Given the description of an element on the screen output the (x, y) to click on. 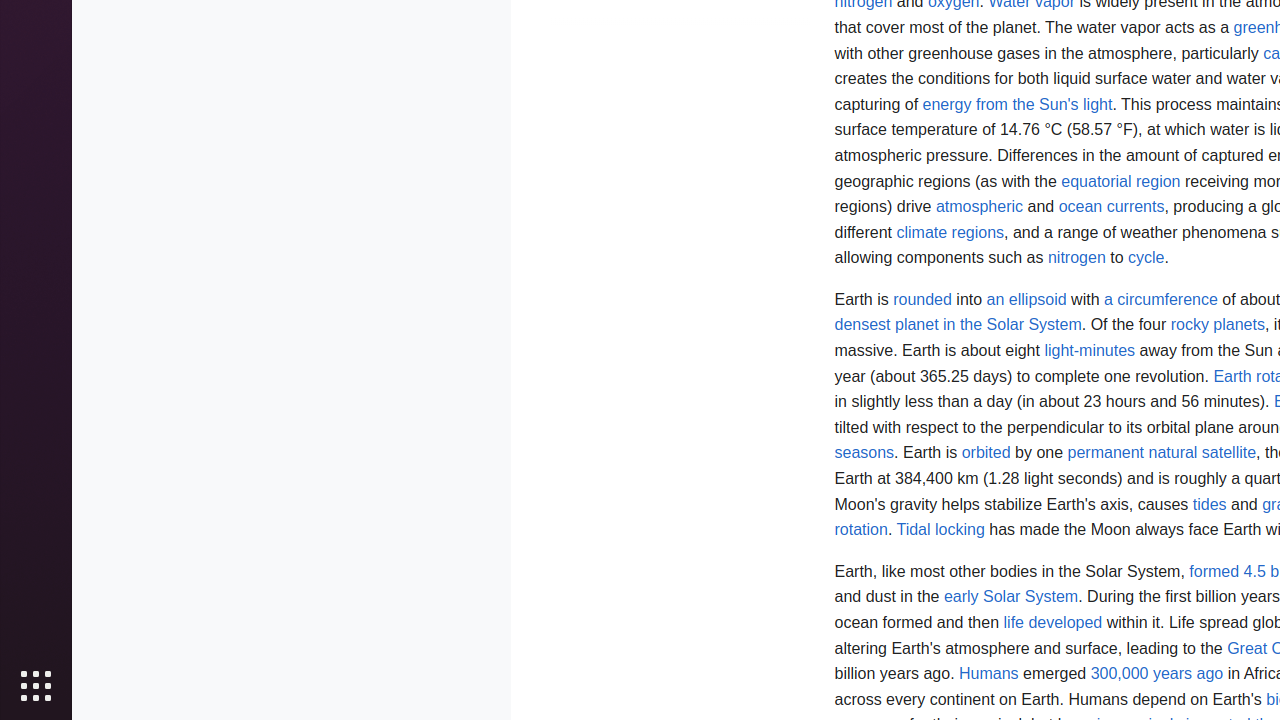
cycle Element type: link (1146, 258)
light-minutes Element type: link (1090, 351)
permanent Element type: link (1106, 453)
densest planet in the Solar System Element type: link (958, 325)
early Solar System Element type: link (1011, 597)
